Given the description of an element on the screen output the (x, y) to click on. 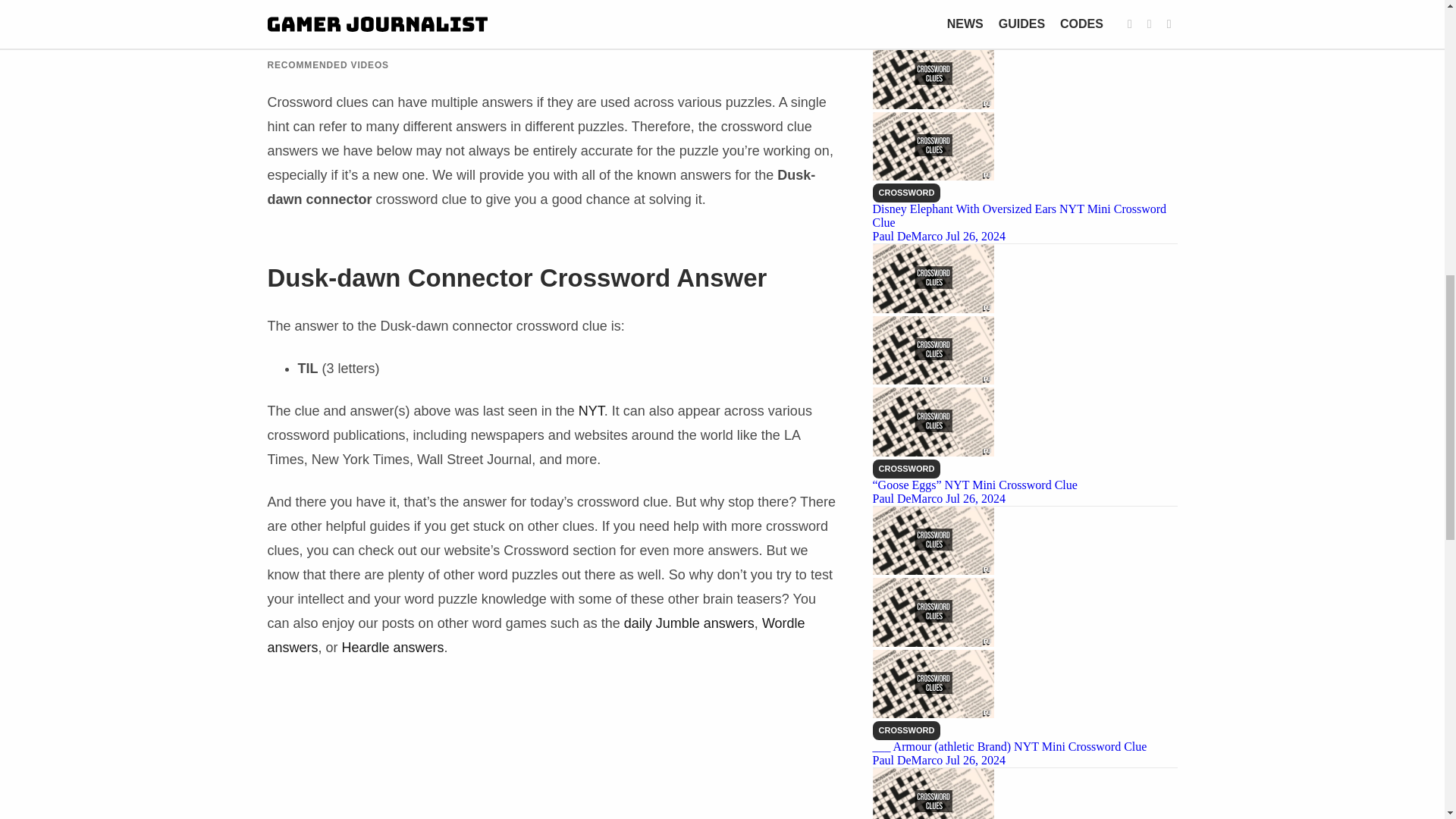
Paul DeMarco (908, 236)
Heardle answers (393, 647)
Wordle answers (535, 635)
NYT (591, 410)
daily Jumble answers (689, 622)
CROSSWORD (906, 468)
CROSSWORD (906, 192)
